Given the description of an element on the screen output the (x, y) to click on. 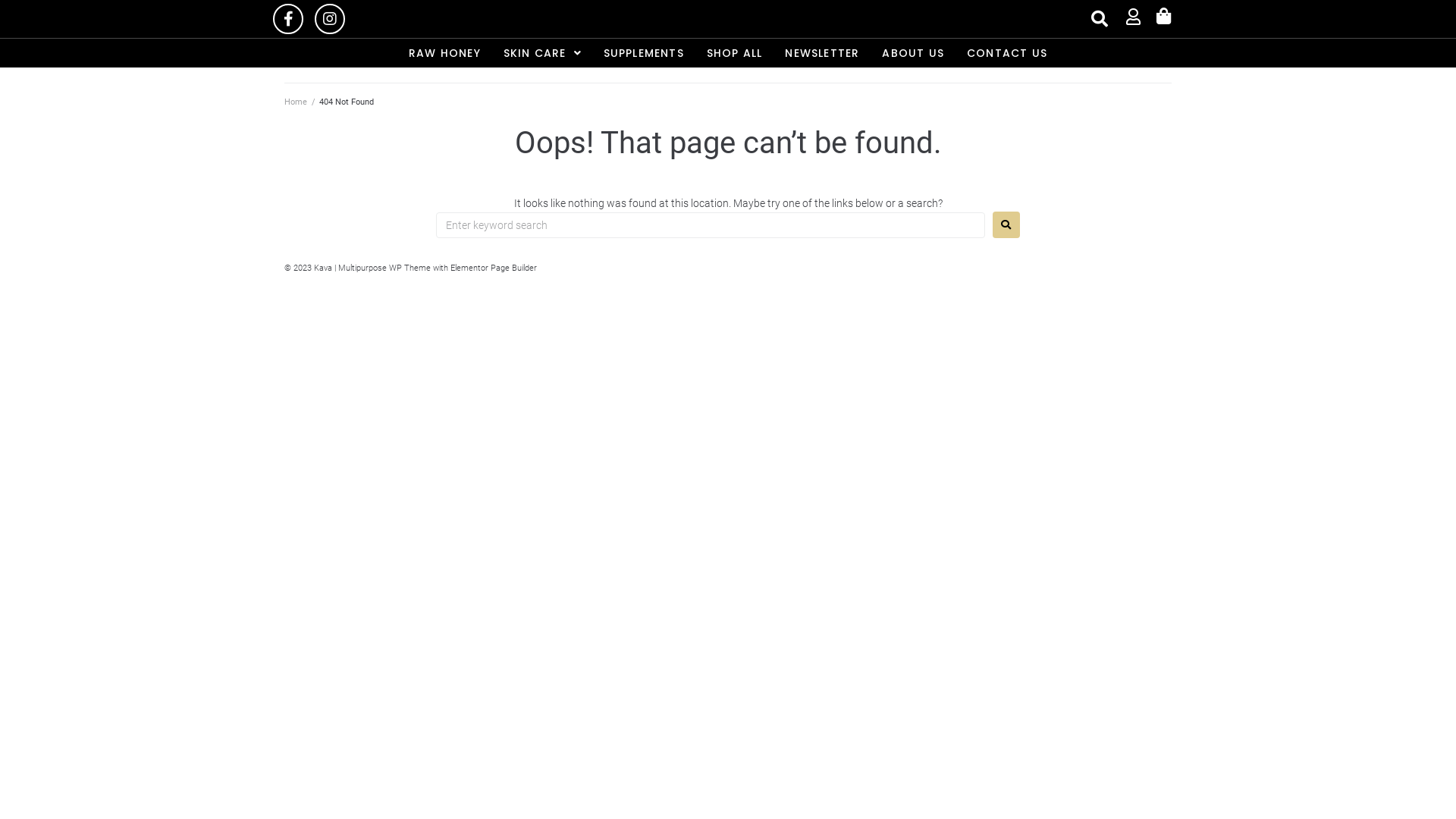
SUPPLEMENTS Element type: text (643, 52)
ABOUT US Element type: text (912, 52)
Home Element type: text (295, 101)
CONTACT US Element type: text (1006, 52)
View your shopping cart Element type: hover (1163, 16)
NEWSLETTER Element type: text (821, 52)
RAW HONEY Element type: text (444, 52)
SKIN CARE Element type: text (542, 52)
SHOP ALL Element type: text (734, 52)
